Given the description of an element on the screen output the (x, y) to click on. 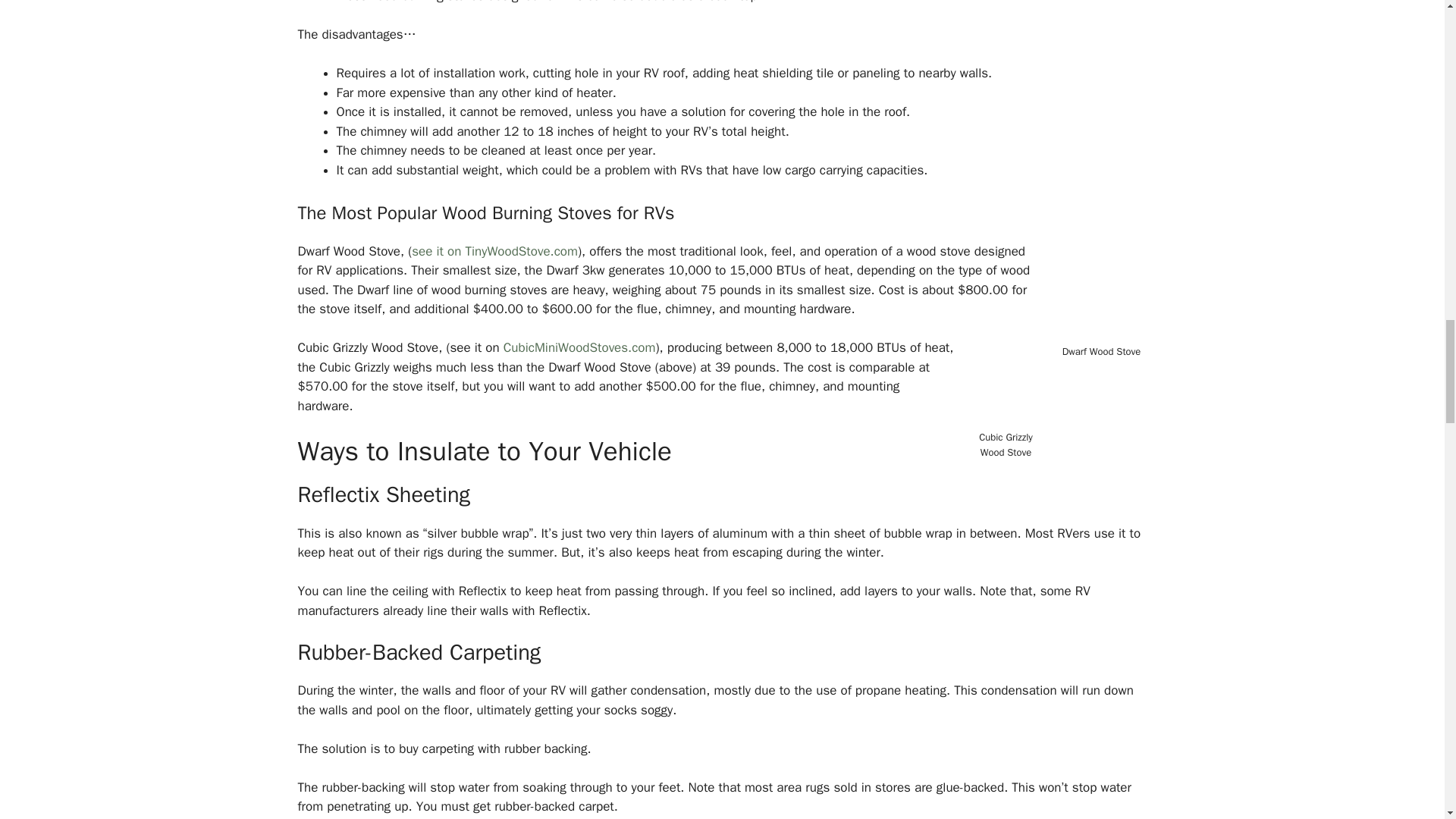
see it on TinyWoodStove.com (495, 251)
CubicMiniWoodStoves.com (579, 347)
